Given the description of an element on the screen output the (x, y) to click on. 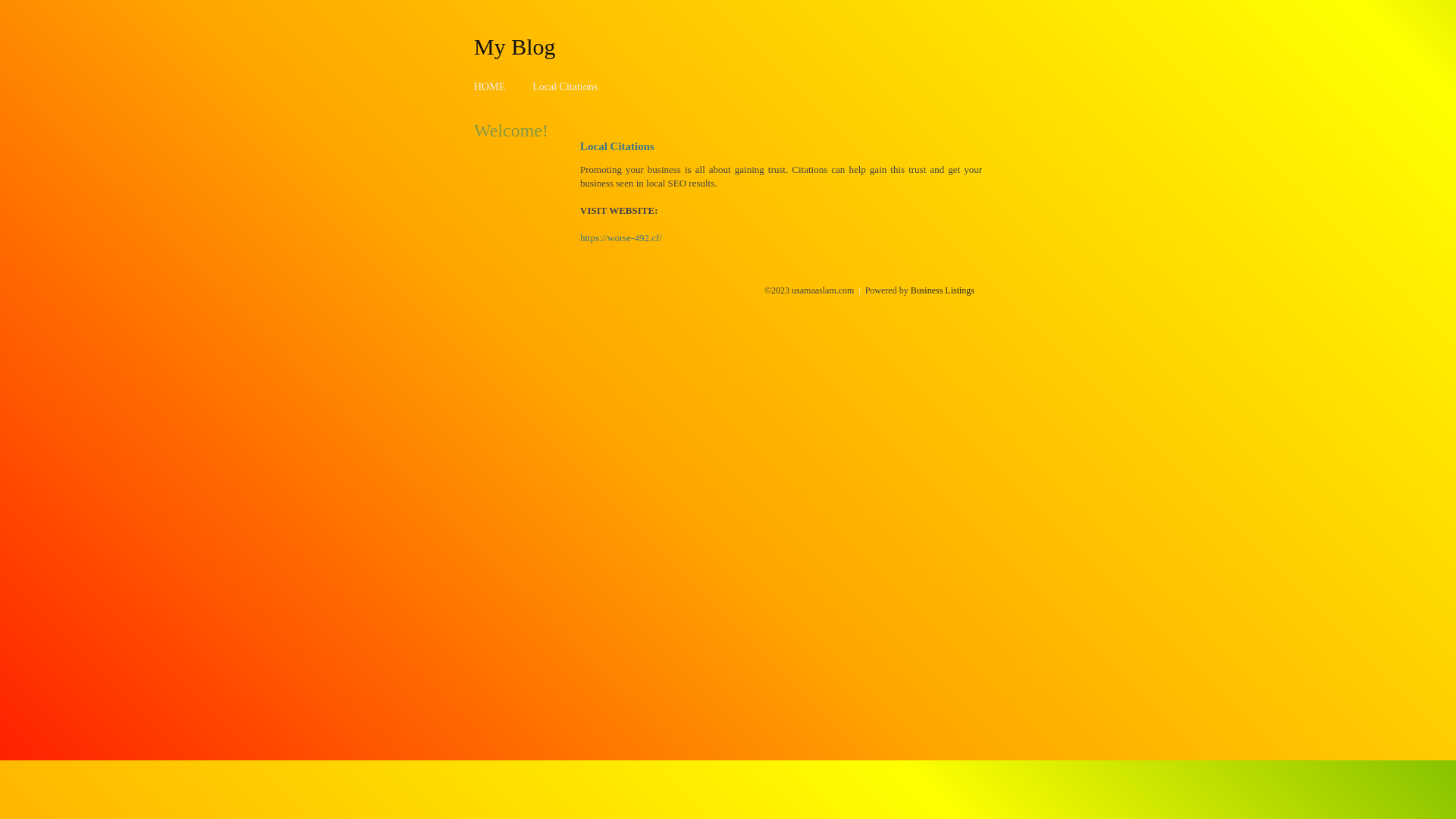
Business Listings Element type: text (942, 290)
My Blog Element type: text (514, 46)
HOME Element type: text (489, 86)
https://worse-492.cf/ Element type: text (621, 237)
Local Citations Element type: text (564, 86)
